Given the description of an element on the screen output the (x, y) to click on. 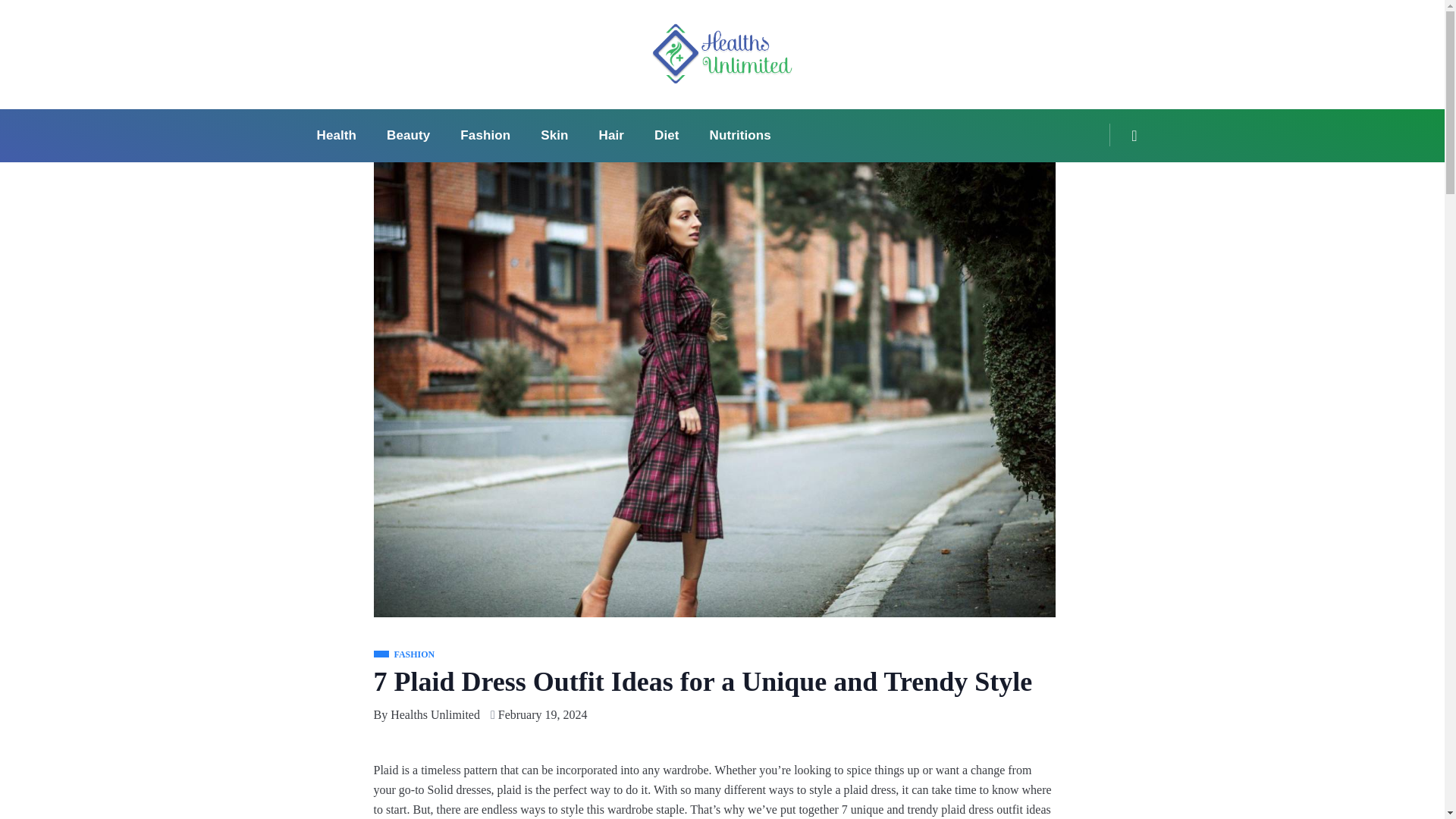
Hair (611, 135)
Diet (666, 135)
Health (336, 135)
FASHION (402, 654)
Fashion (485, 135)
Nutritions (740, 135)
Healths Unlimited (435, 714)
Beauty (408, 135)
Skin (554, 135)
